Given the description of an element on the screen output the (x, y) to click on. 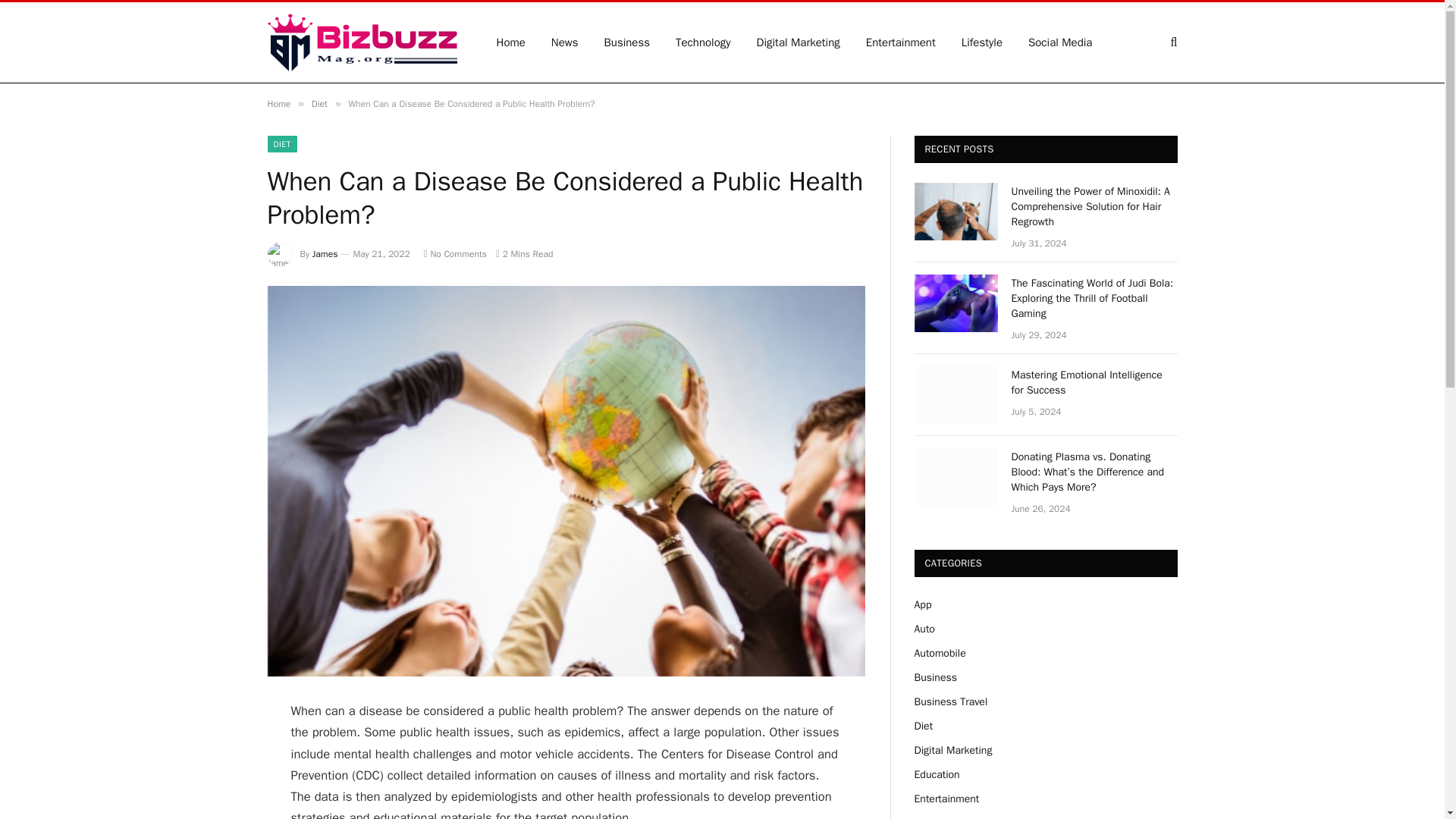
Technology (703, 42)
Bizbuzzmag.org (361, 41)
Mastering Emotional Intelligence for Success (1094, 382)
Posts by James (325, 254)
DIET (281, 143)
No Comments (454, 254)
Entertainment (901, 42)
James (325, 254)
Business (627, 42)
App (922, 604)
Diet (319, 103)
Social Media (1059, 42)
